Given the description of an element on the screen output the (x, y) to click on. 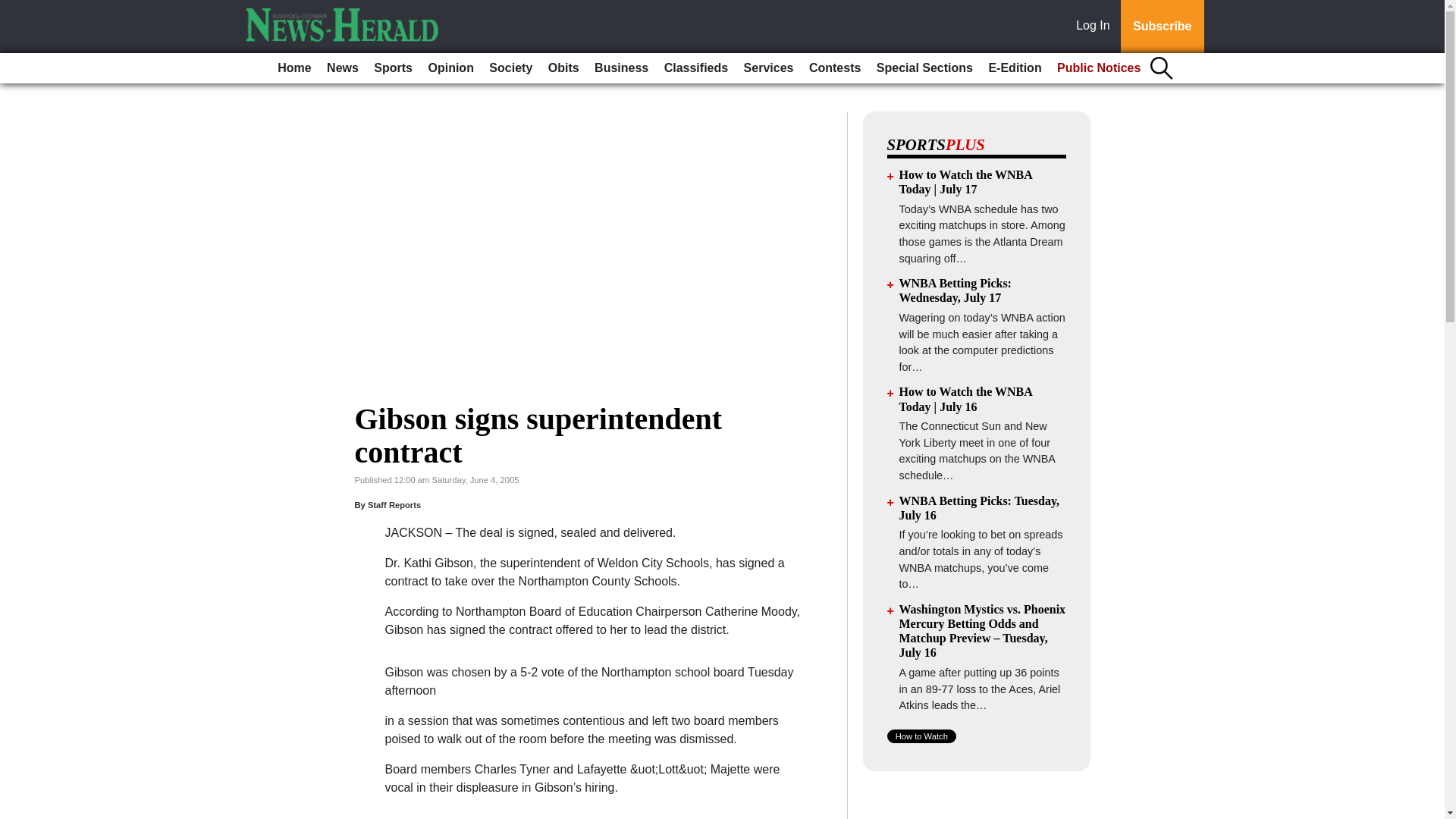
Business (620, 68)
Opinion (450, 68)
Sports (393, 68)
Services (768, 68)
Staff Reports (394, 504)
News (342, 68)
Go (13, 9)
Contests (834, 68)
Log In (1095, 26)
Special Sections (924, 68)
Obits (563, 68)
Subscribe (1162, 26)
Society (510, 68)
Home (293, 68)
E-Edition (1013, 68)
